Given the description of an element on the screen output the (x, y) to click on. 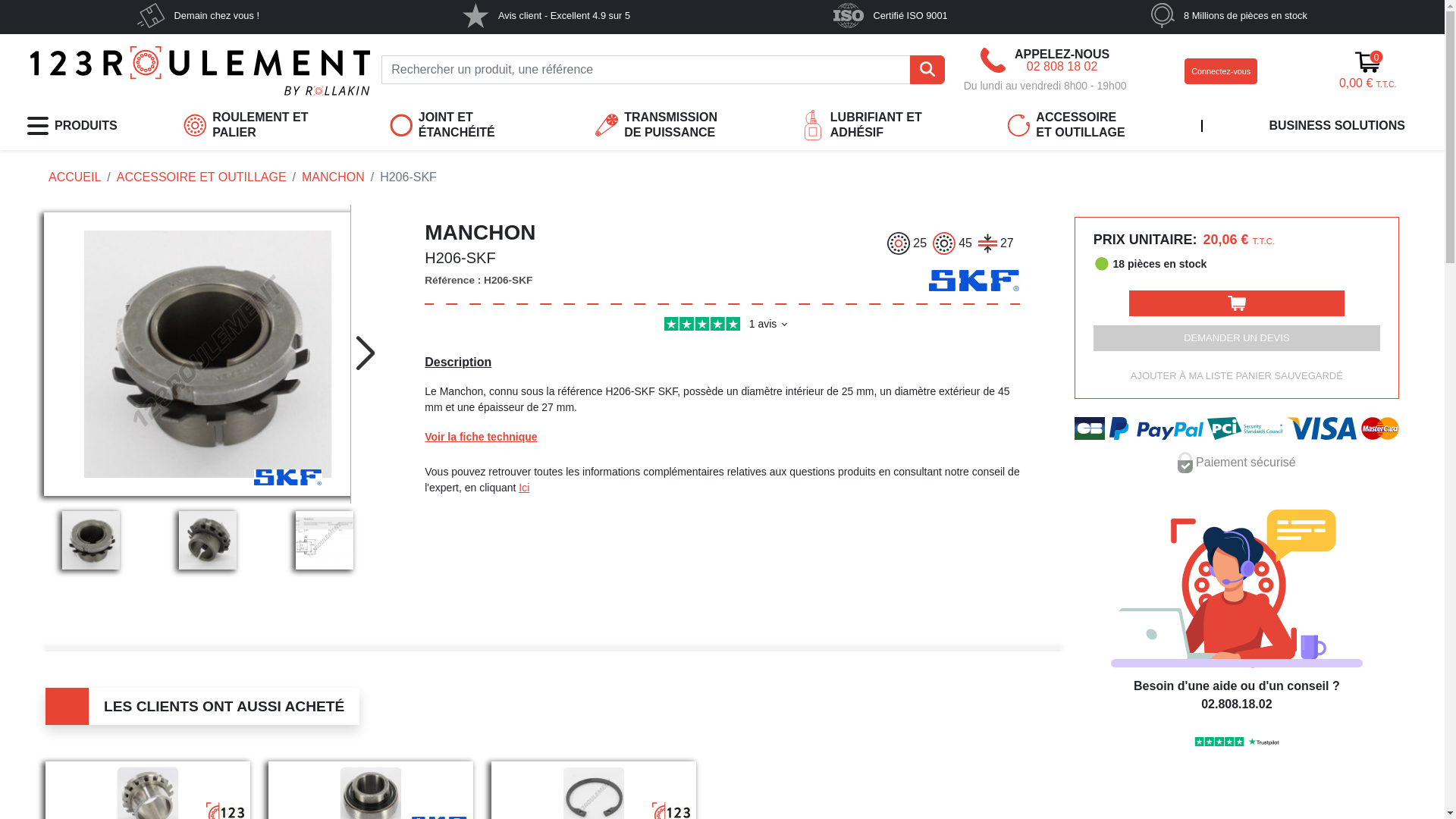
02 808 18 02 Element type: text (1061, 65)
ACCUEIL Element type: text (74, 176)
DEMANDER UN DEVIS Element type: text (1236, 338)
MANCHON Element type: text (332, 176)
Connectez-vous Element type: text (1220, 70)
ACCESSOIRE ET OUTILLAGE Element type: text (201, 176)
Avis client - Excellent 4.9 sur 5
(current) Element type: text (546, 15)
ACCESSOIRE ET OUTILLAGE Element type: text (1070, 125)
PRODUITS Element type: text (72, 126)
TRANSMISSION DE PUISSANCE Element type: text (658, 125)
Customer reviews powered by Trustpilot Element type: hover (721, 325)
Ici Element type: text (523, 487)
ROULEMENT ET PALIER Element type: text (247, 125)
Voir la fiche technique Element type: text (480, 436)
BUSINESS SOLUTIONS Element type: text (1336, 126)
Demain chez vous !
(current) Element type: text (198, 15)
